Given the description of an element on the screen output the (x, y) to click on. 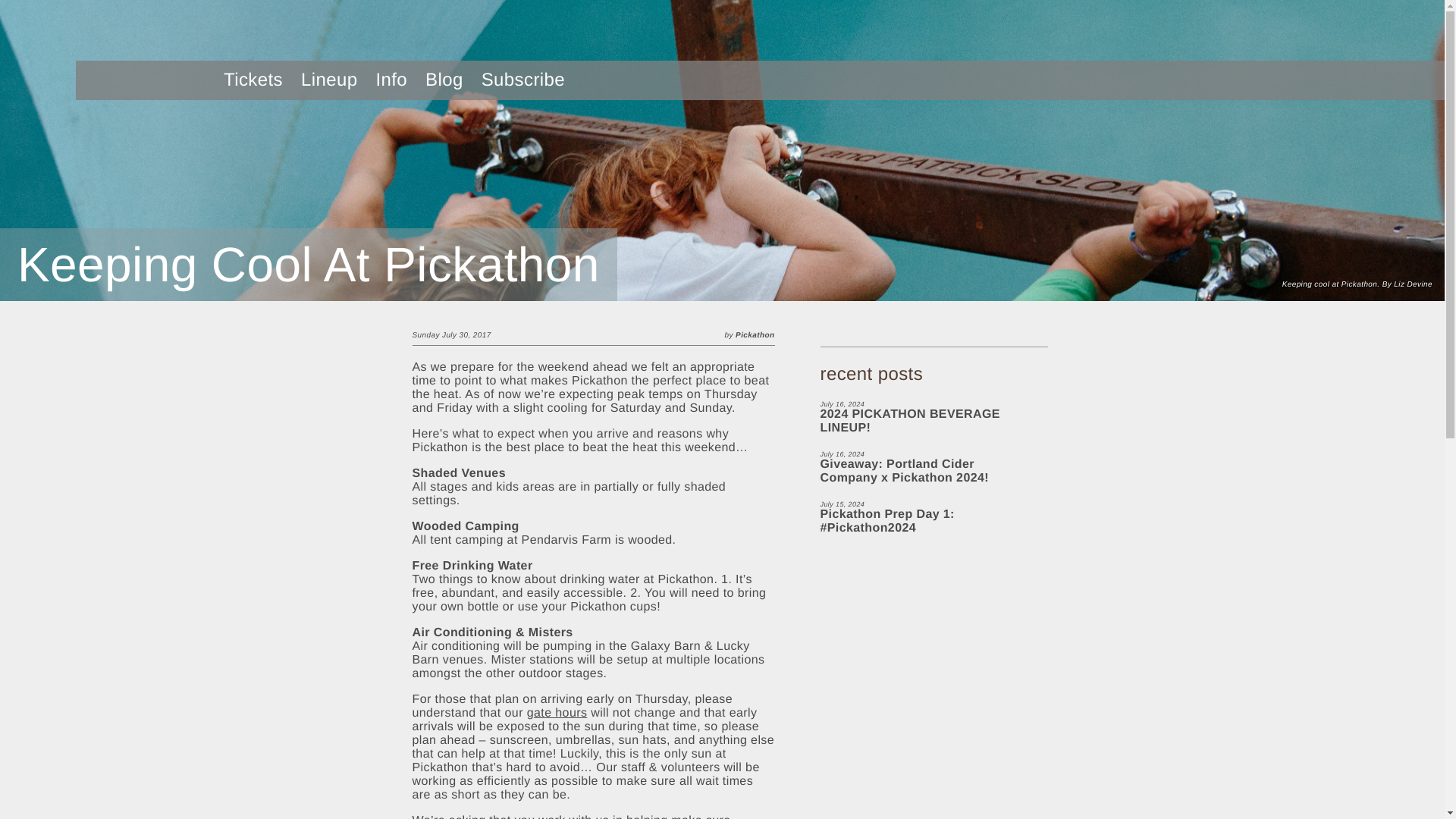
gate hours (557, 712)
Blog (443, 79)
Info (391, 79)
Subscribe (522, 79)
Lineup (329, 79)
Tickets (253, 79)
